Given the description of an element on the screen output the (x, y) to click on. 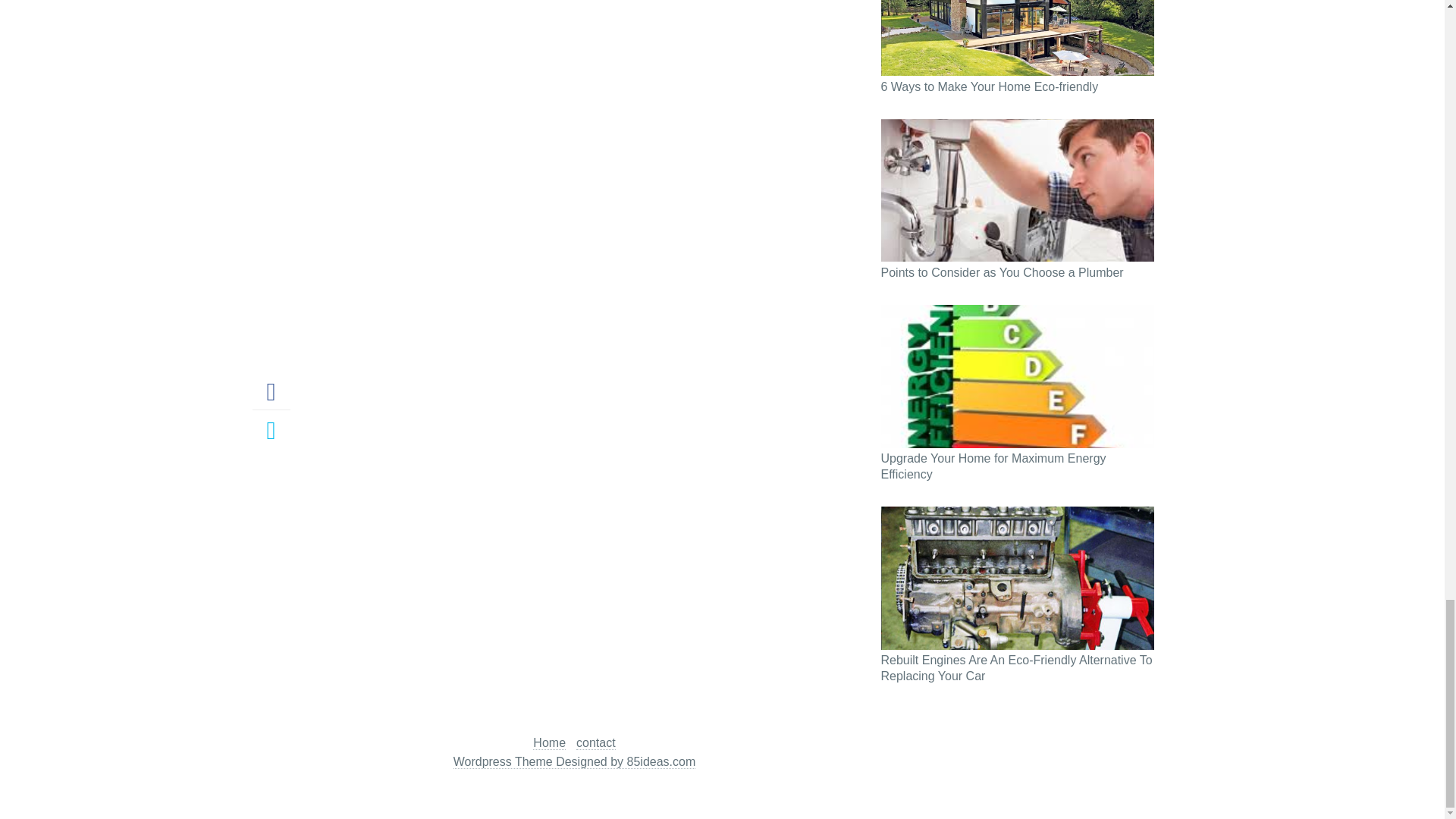
Themes for Wordpress (573, 762)
